Given the description of an element on the screen output the (x, y) to click on. 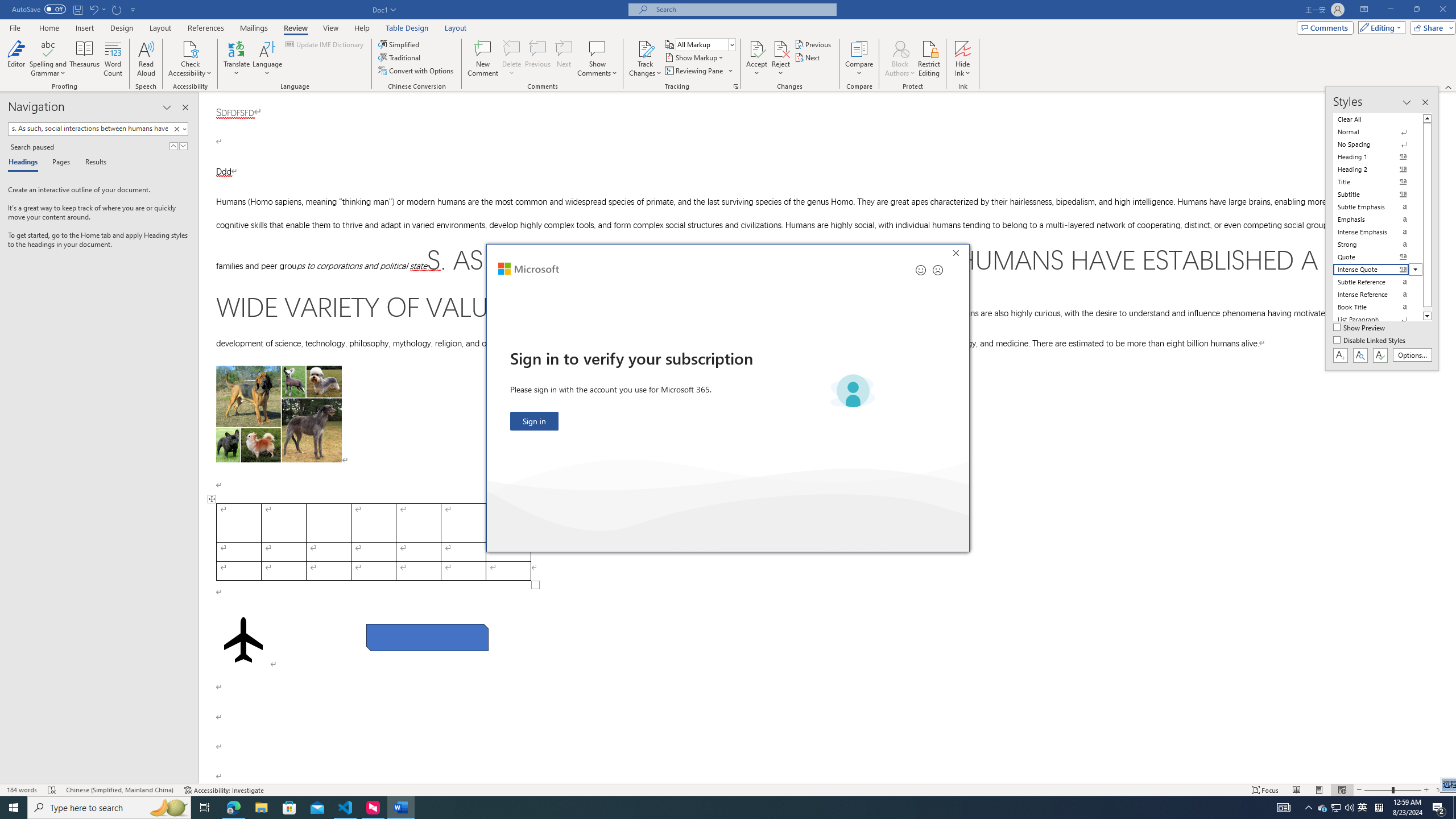
Undo Style (96, 9)
Tray Input Indicator - Chinese (Simplified, China) (1378, 807)
Show Comments (597, 58)
Language (267, 58)
Convert with Options... (417, 69)
